Given the description of an element on the screen output the (x, y) to click on. 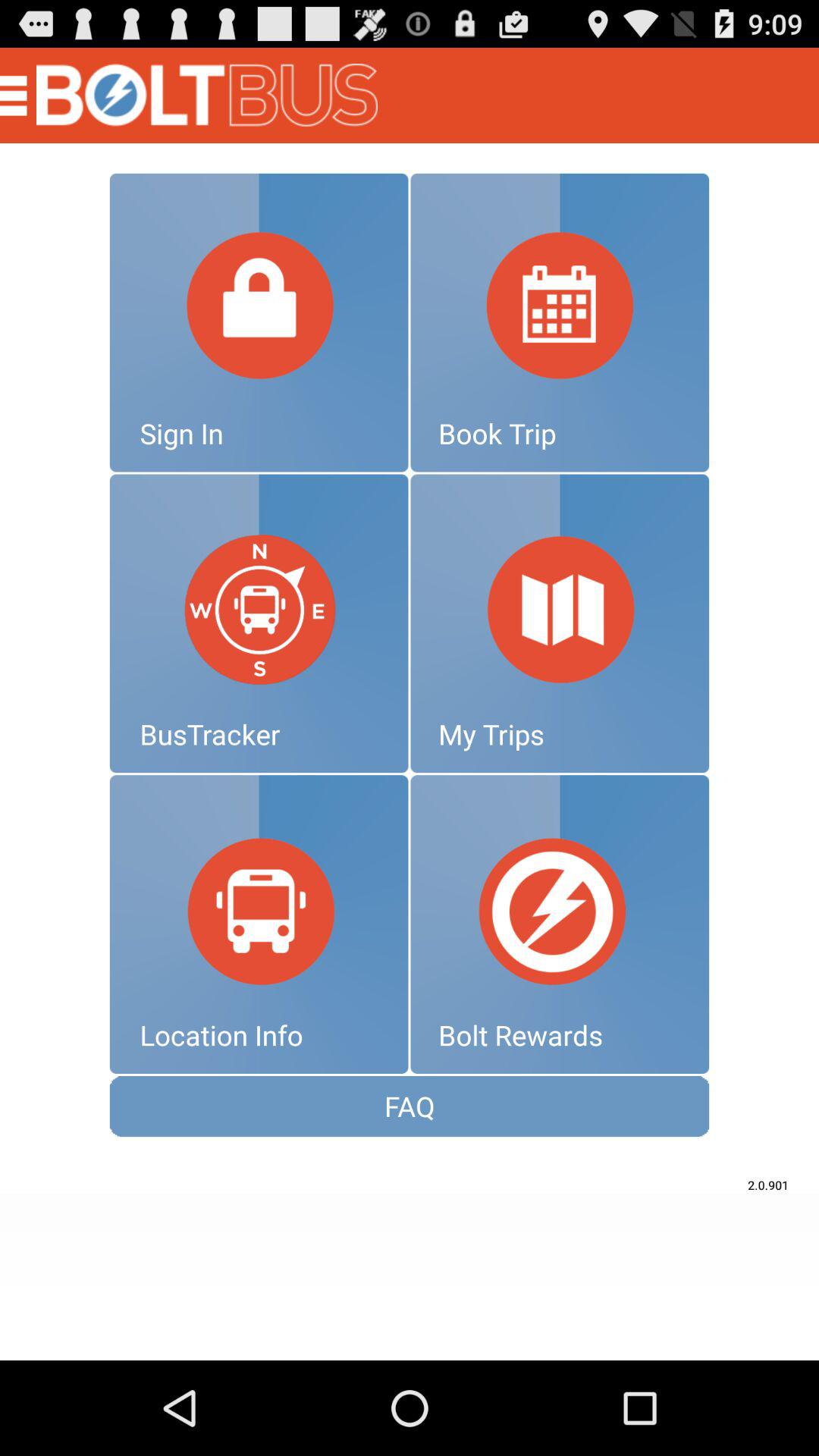
click to bolt rewards (559, 924)
